Given the description of an element on the screen output the (x, y) to click on. 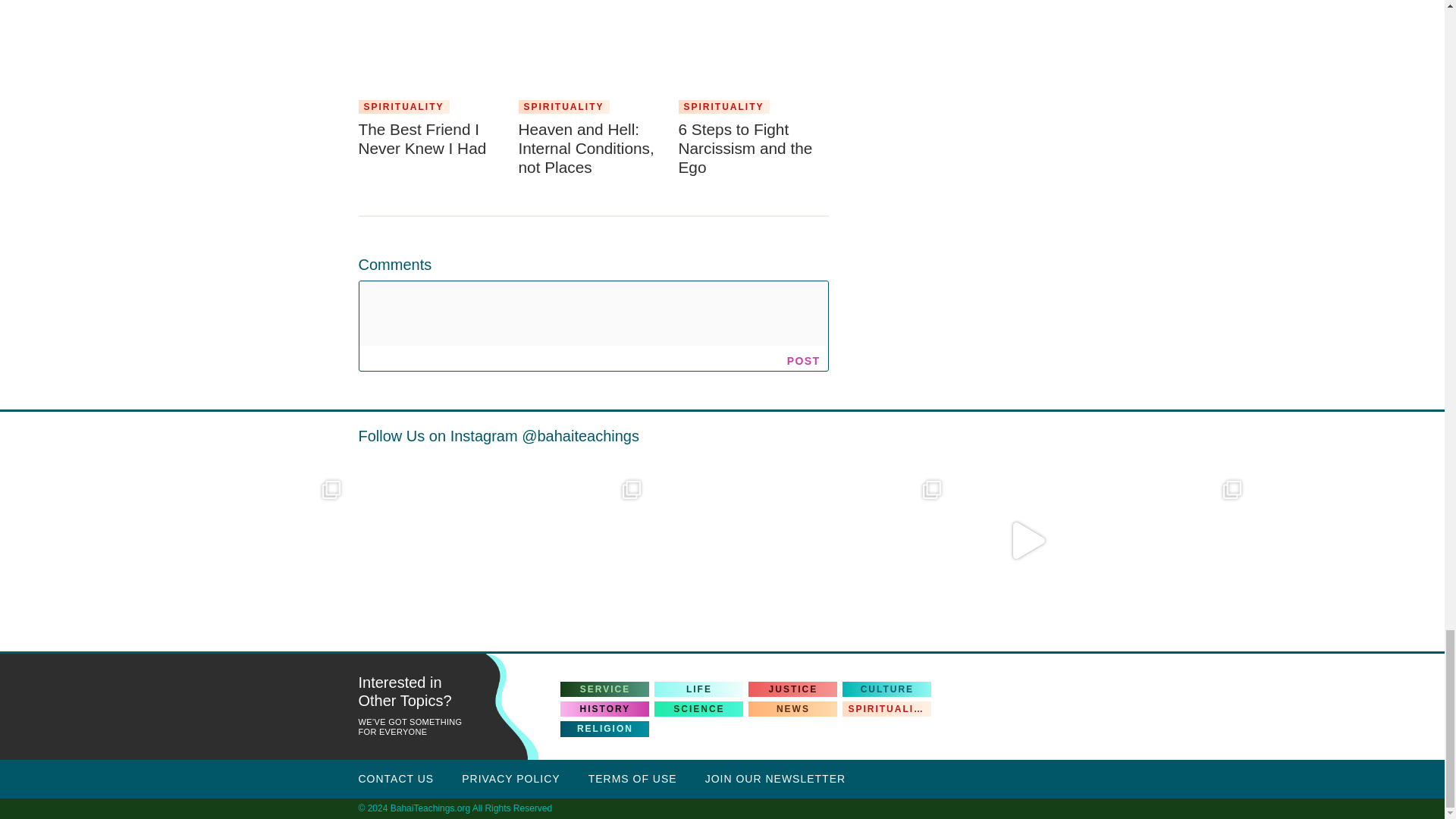
Post (804, 360)
